Given the description of an element on the screen output the (x, y) to click on. 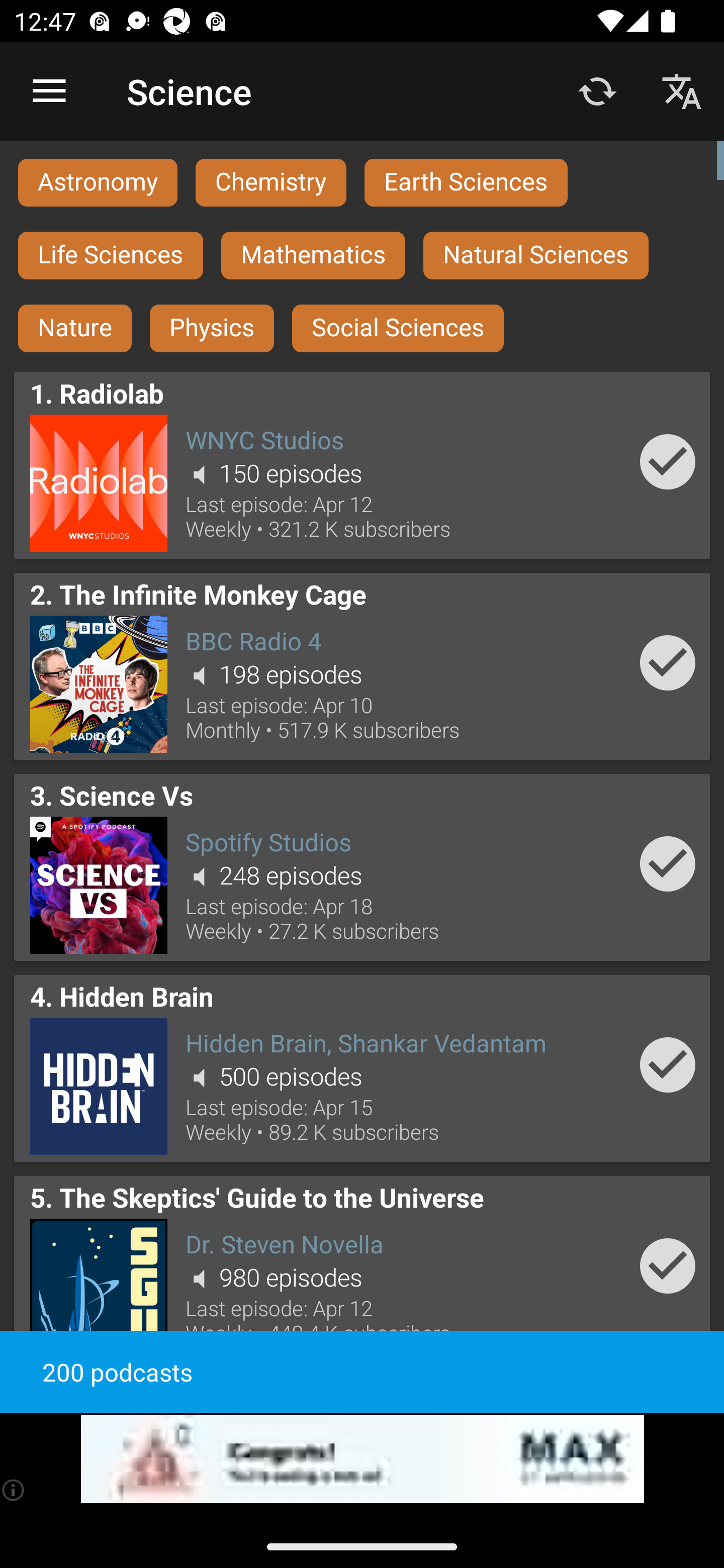
Open navigation sidebar (49, 91)
Update top podcasts list (597, 90)
Podcast languages (681, 90)
Astronomy (97, 182)
Chemistry (270, 182)
Earth Sciences (465, 182)
Life Sciences (110, 255)
Mathematics (313, 255)
Natural Sciences (535, 255)
Nature (74, 328)
Physics (211, 328)
Social Sciences (397, 328)
Add (667, 461)
Add (667, 662)
Add (667, 863)
Add (667, 1064)
Add (667, 1265)
app-monetization (362, 1459)
(i) (14, 1489)
